Given the description of an element on the screen output the (x, y) to click on. 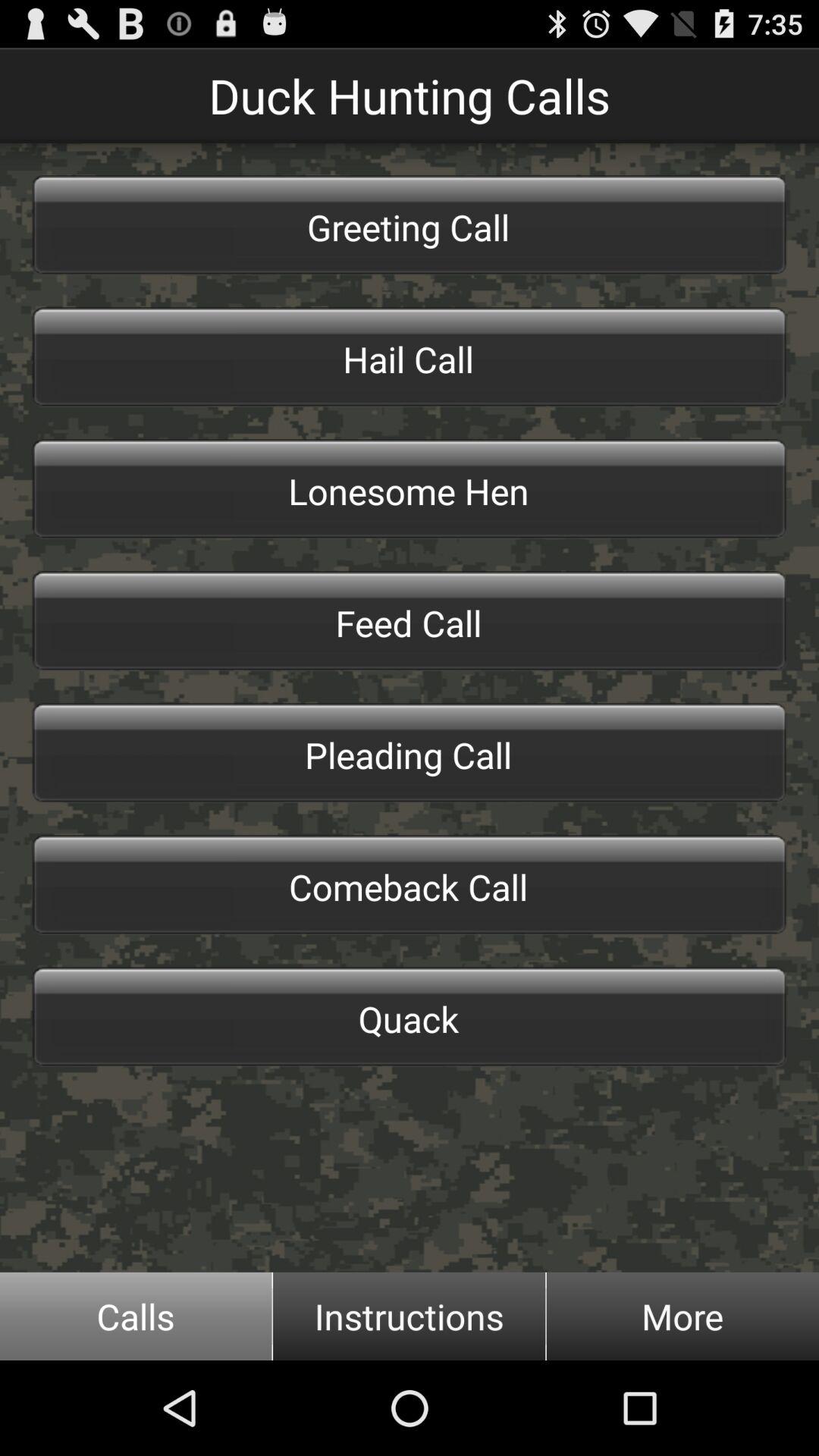
swipe until feed call (409, 621)
